Given the description of an element on the screen output the (x, y) to click on. 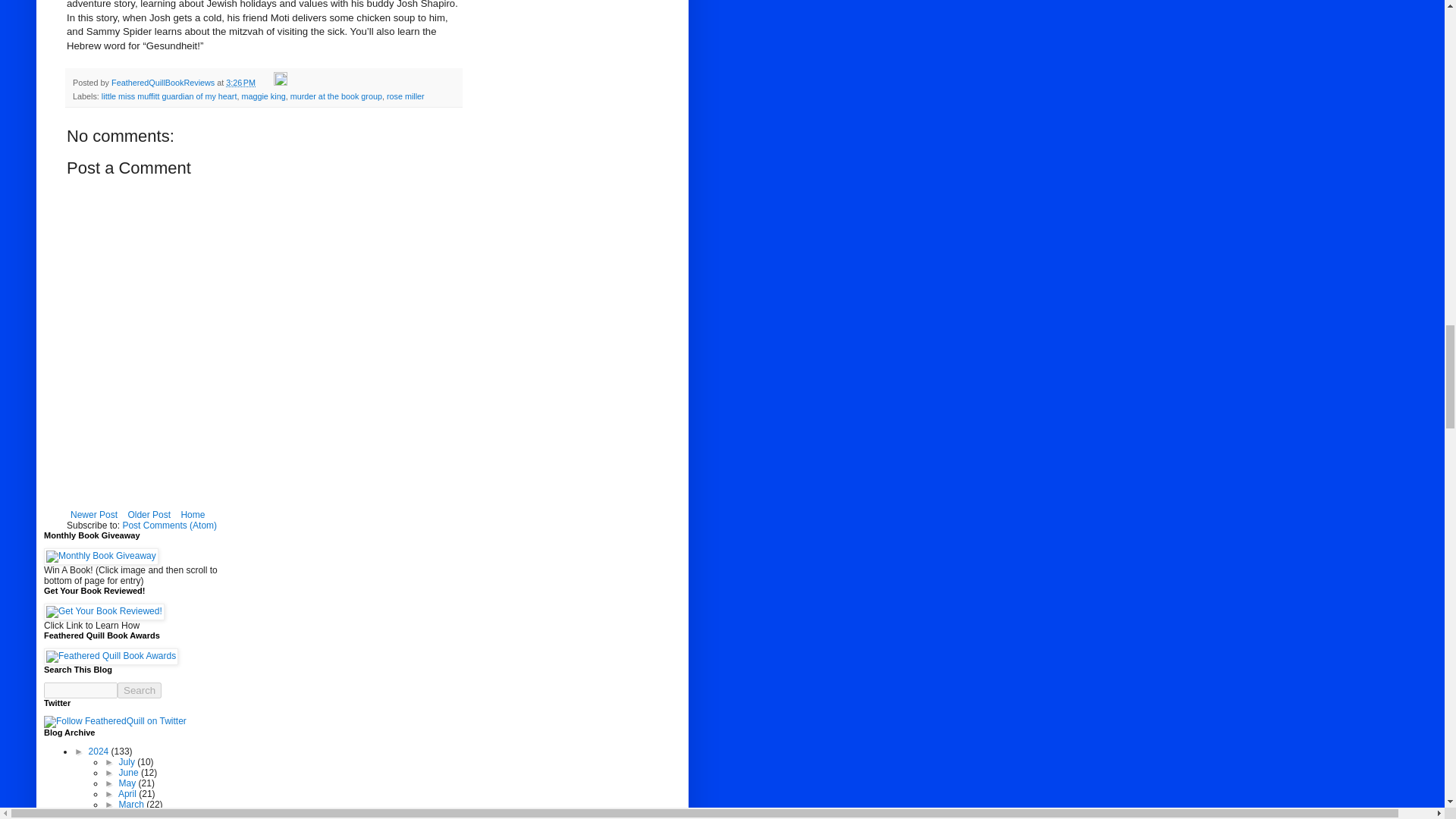
Search (139, 690)
May (128, 783)
Older Post (148, 515)
maggie king (263, 95)
Older Post (148, 515)
Search (139, 690)
March (133, 804)
July (128, 761)
Newer Post (93, 515)
FeatheredQuillBookReviews (164, 81)
February (138, 814)
little miss muffitt guardian of my heart (169, 95)
Edit Post (279, 81)
April (127, 793)
Email Post (265, 81)
